Given the description of an element on the screen output the (x, y) to click on. 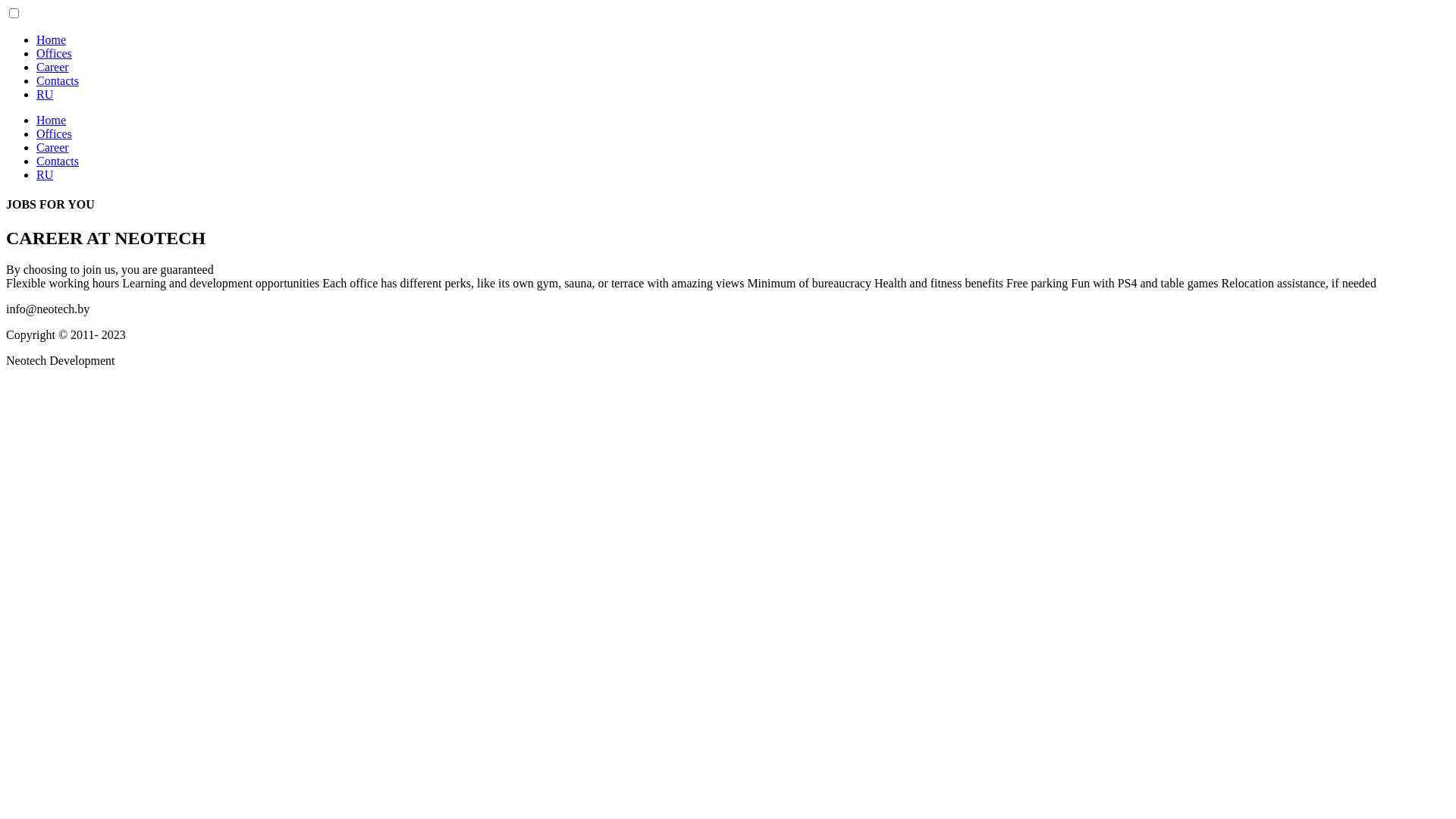
Career Element type: text (52, 66)
RU Element type: text (44, 174)
Offices Element type: text (54, 53)
Contacts Element type: text (57, 80)
Home Element type: text (50, 39)
Home Element type: text (50, 119)
Contacts Element type: text (57, 160)
Career Element type: text (52, 147)
RU Element type: text (44, 93)
Offices Element type: text (54, 133)
